Given the description of an element on the screen output the (x, y) to click on. 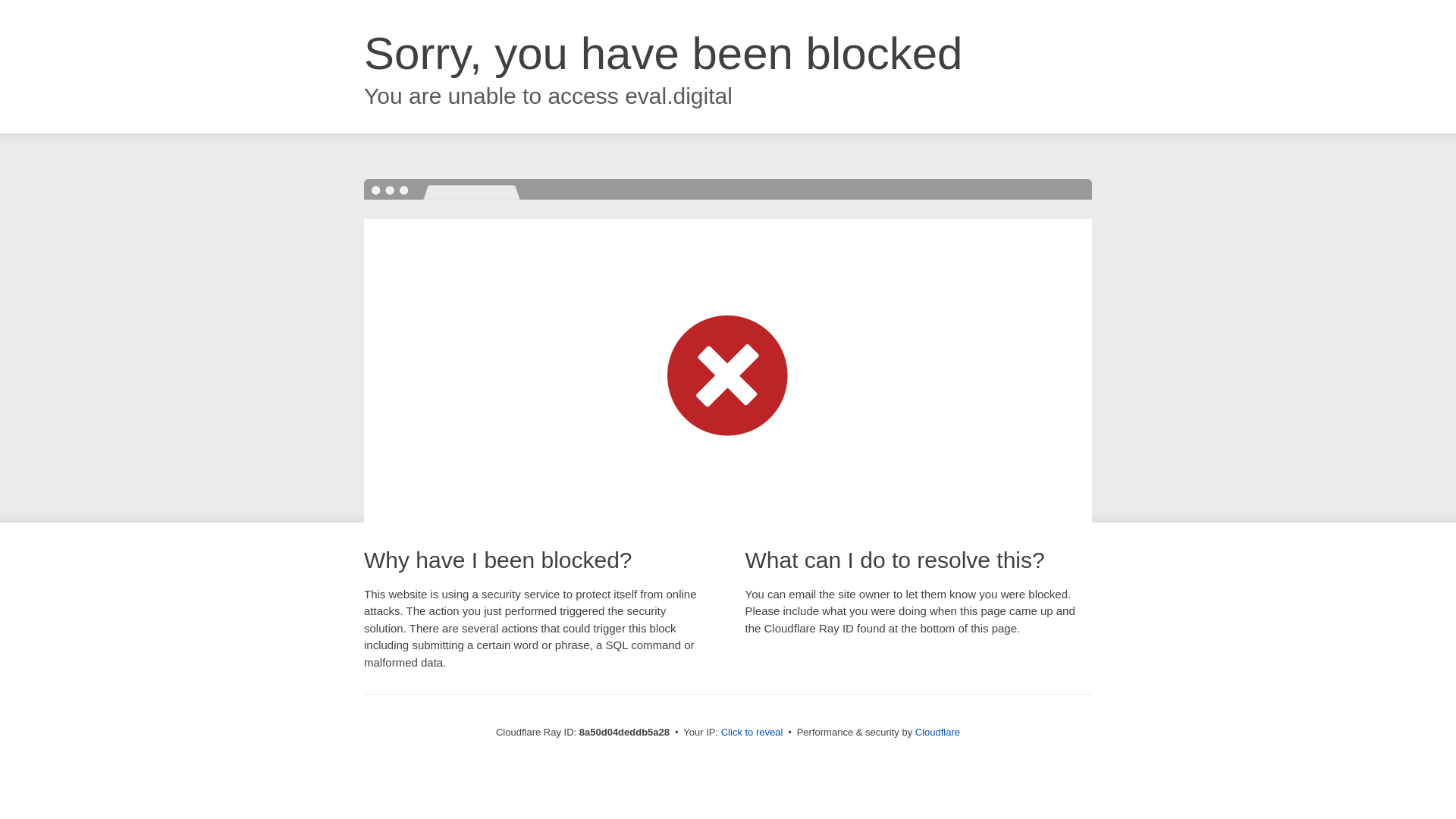
Click to reveal (751, 732)
Cloudflare (937, 731)
